Given the description of an element on the screen output the (x, y) to click on. 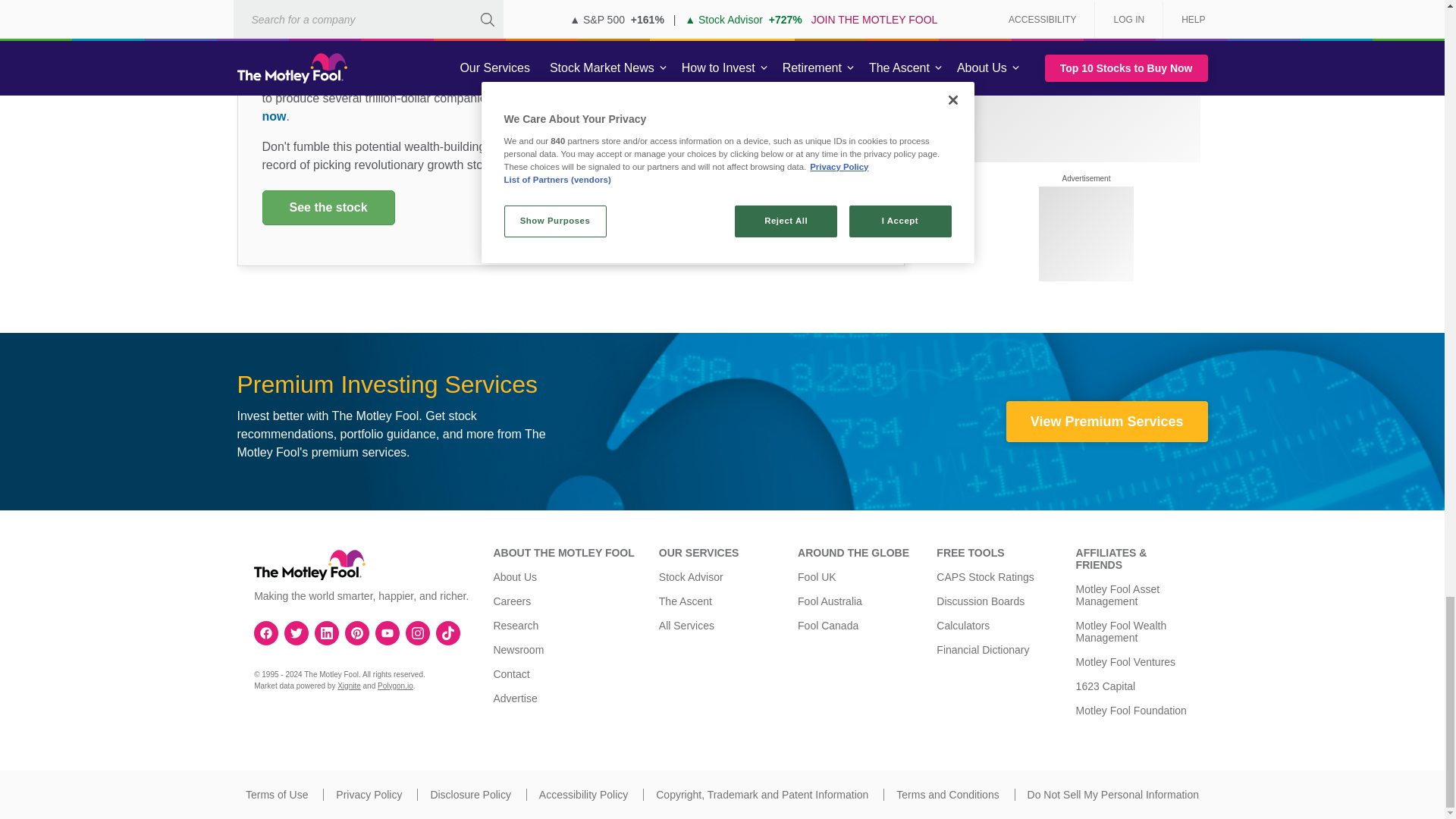
Do Not Sell My Personal Information. (1112, 794)
Terms of Use (276, 794)
Terms and Conditions (947, 794)
Copyright, Trademark and Patent Information (761, 794)
Privacy Policy (368, 794)
Disclosure Policy (470, 794)
Accessibility Policy (582, 794)
